Given the description of an element on the screen output the (x, y) to click on. 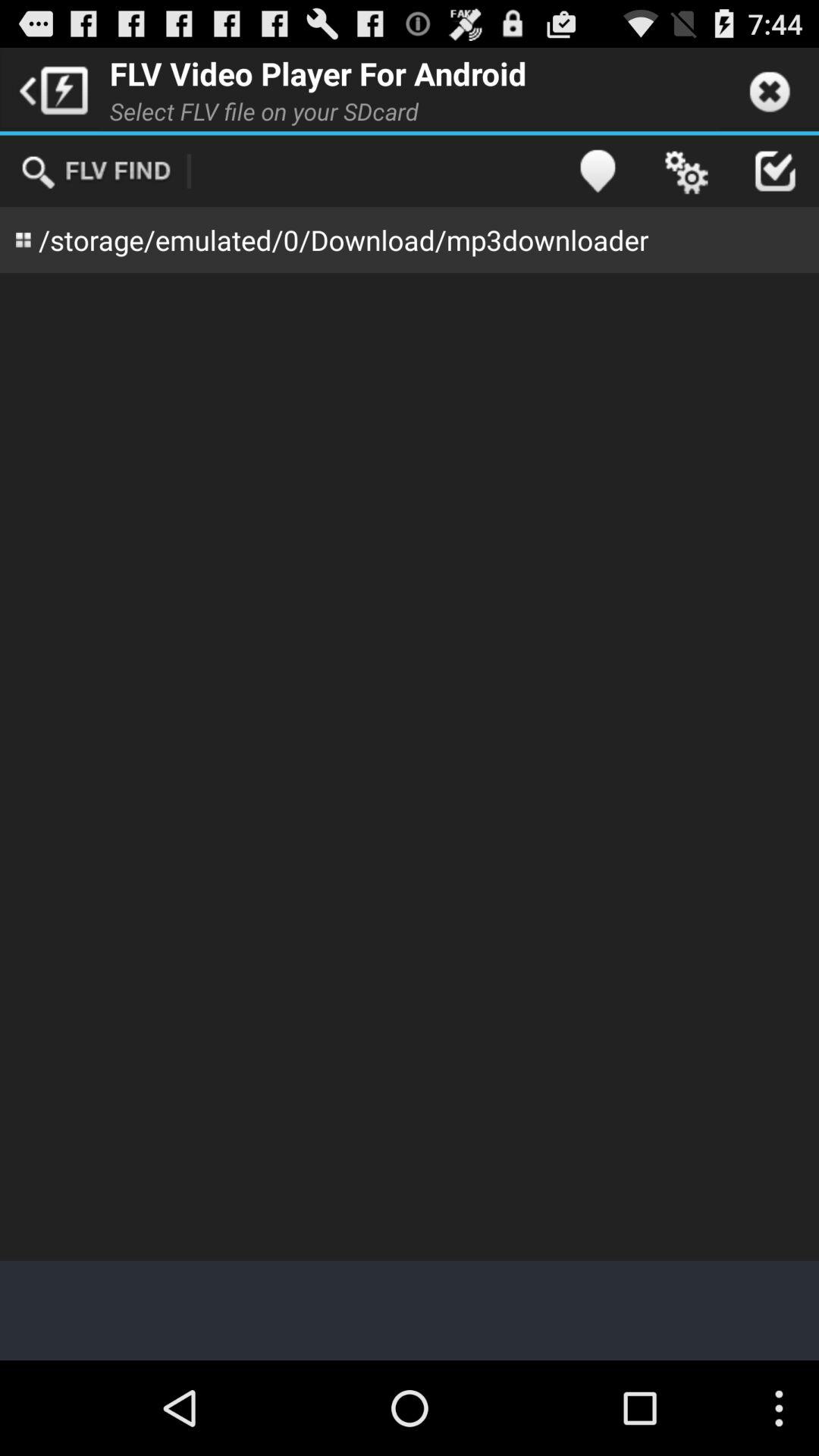
choose app below the storage emulated 0 app (409, 766)
